Given the description of an element on the screen output the (x, y) to click on. 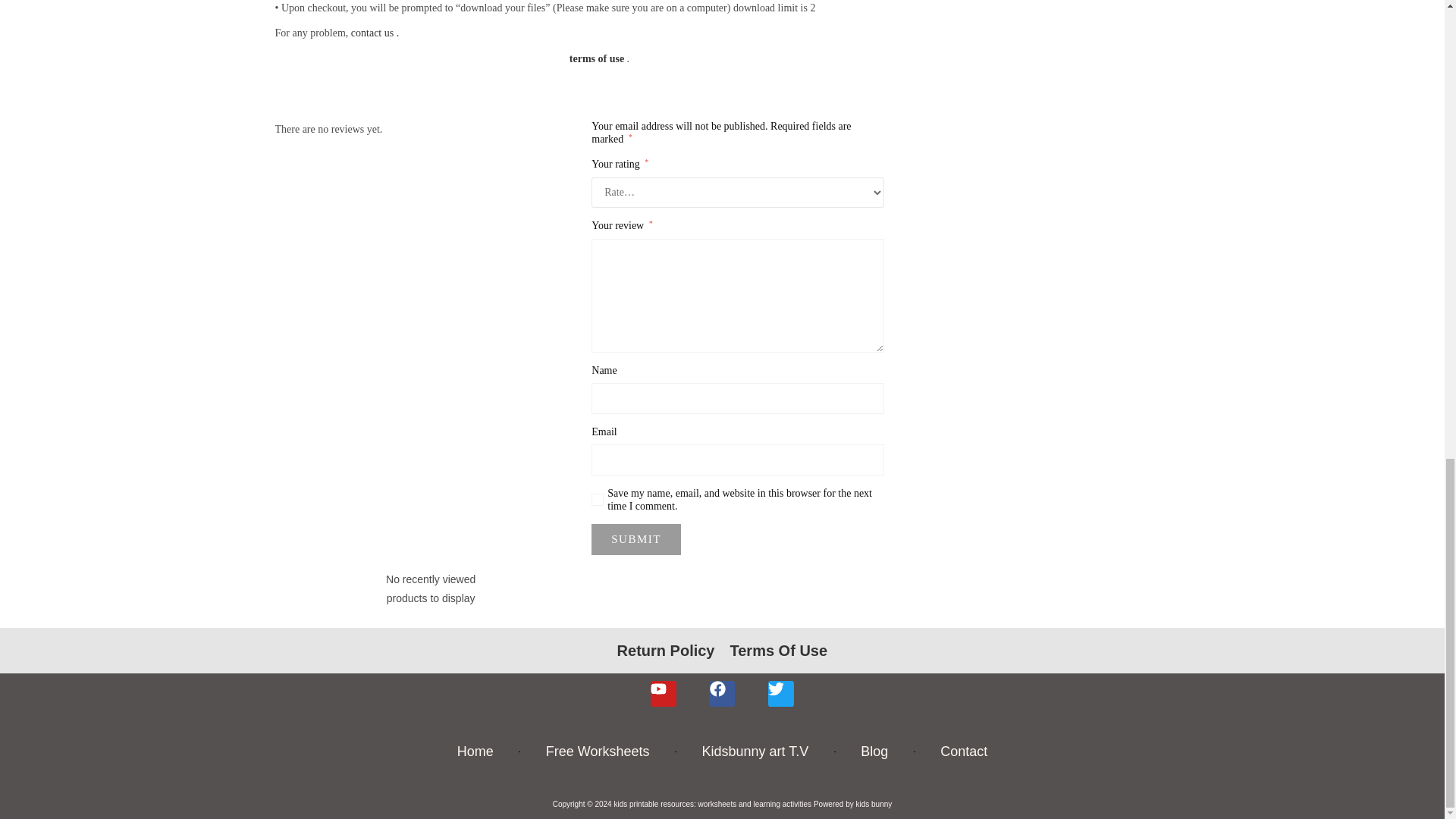
Submit (636, 539)
contact us . (374, 32)
 terms of use (595, 58)
yes (597, 499)
Submit (636, 539)
